Given the description of an element on the screen output the (x, y) to click on. 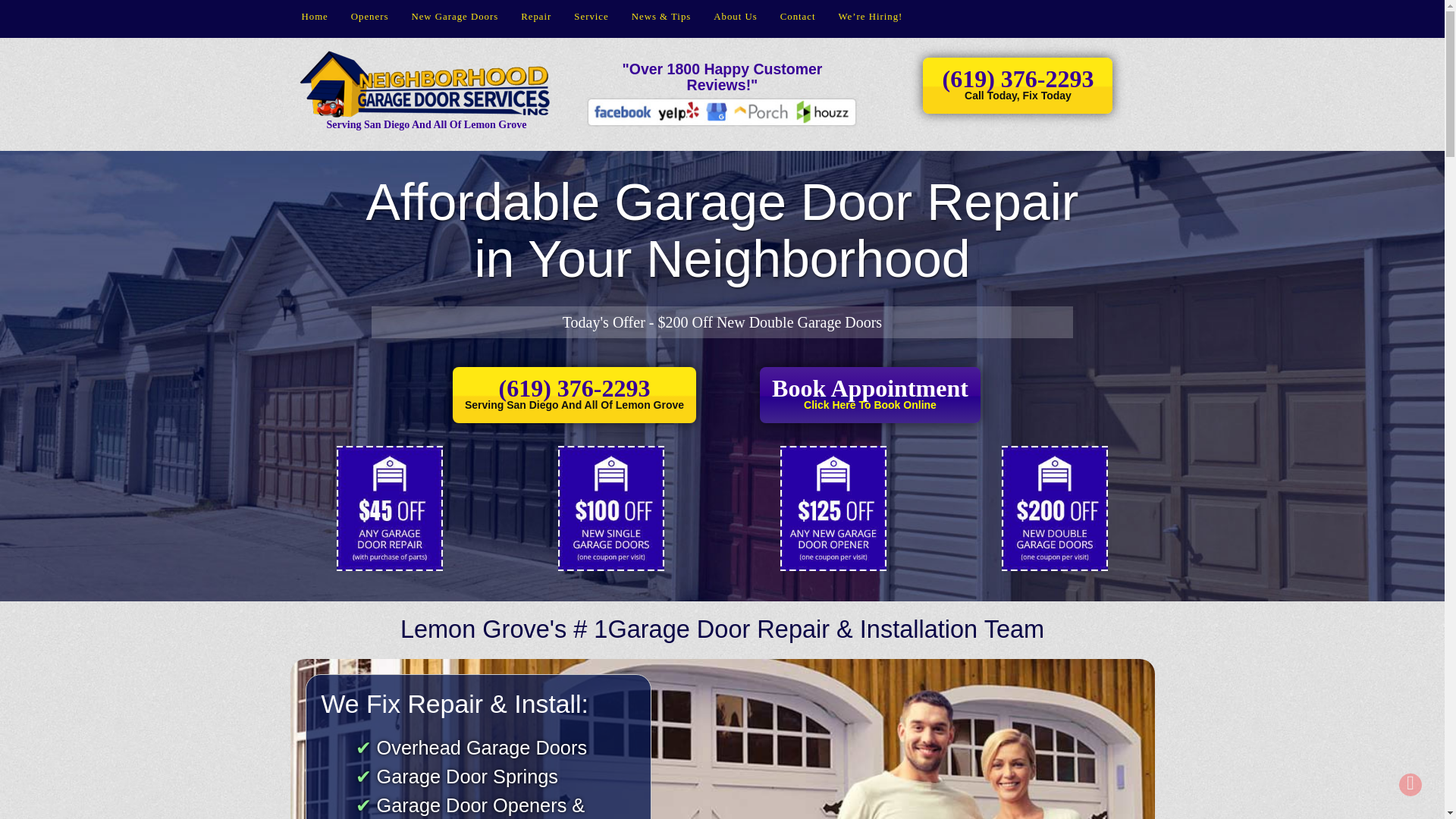
Contact (797, 17)
Repair (535, 17)
New Garage Doors (453, 17)
Home (314, 17)
Service (591, 17)
About Us (734, 17)
New Garage Doors (453, 17)
Repair (869, 394)
Contact (535, 17)
